Given the description of an element on the screen output the (x, y) to click on. 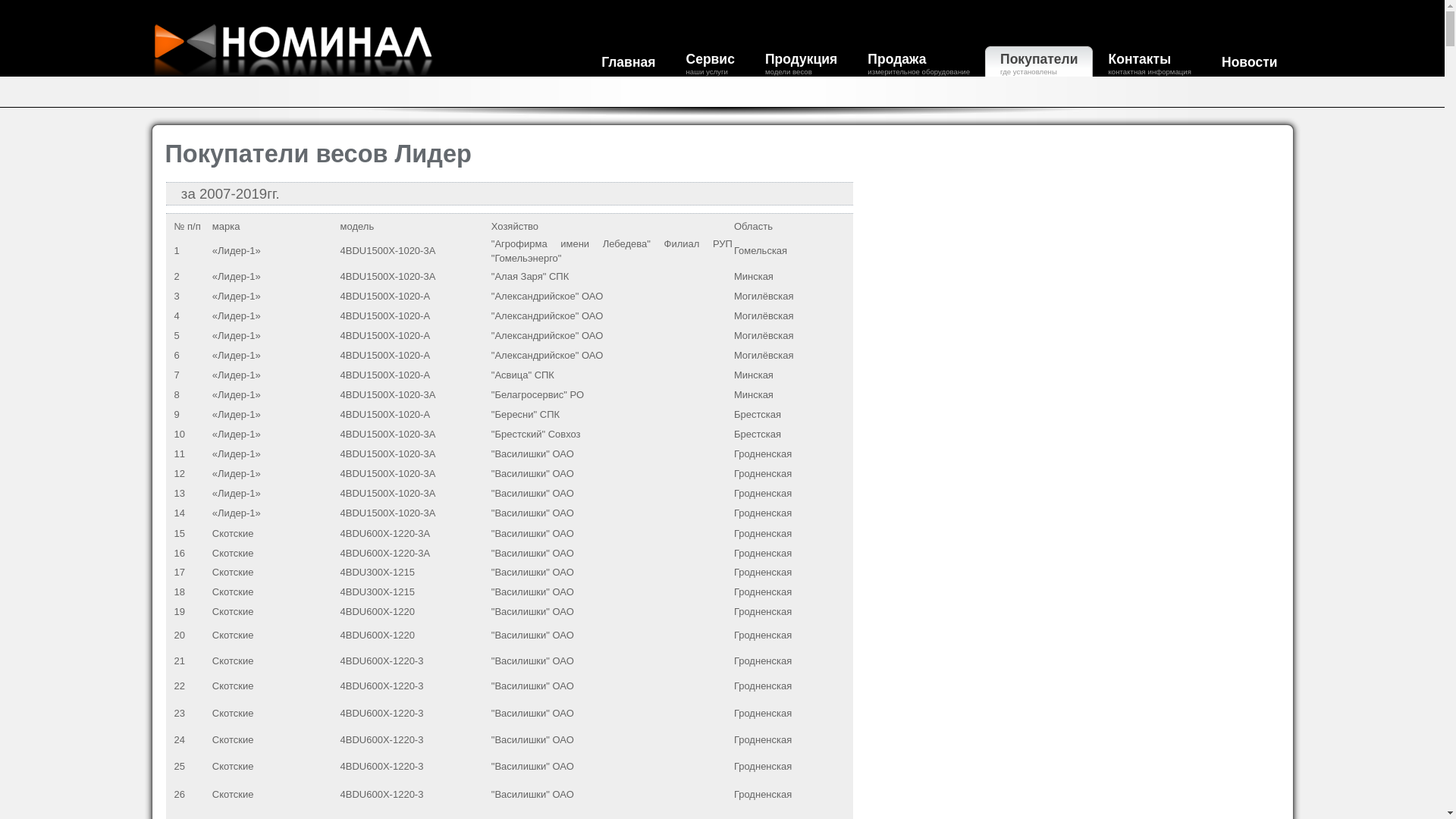
Home Element type: hover (303, 72)
